Given the description of an element on the screen output the (x, y) to click on. 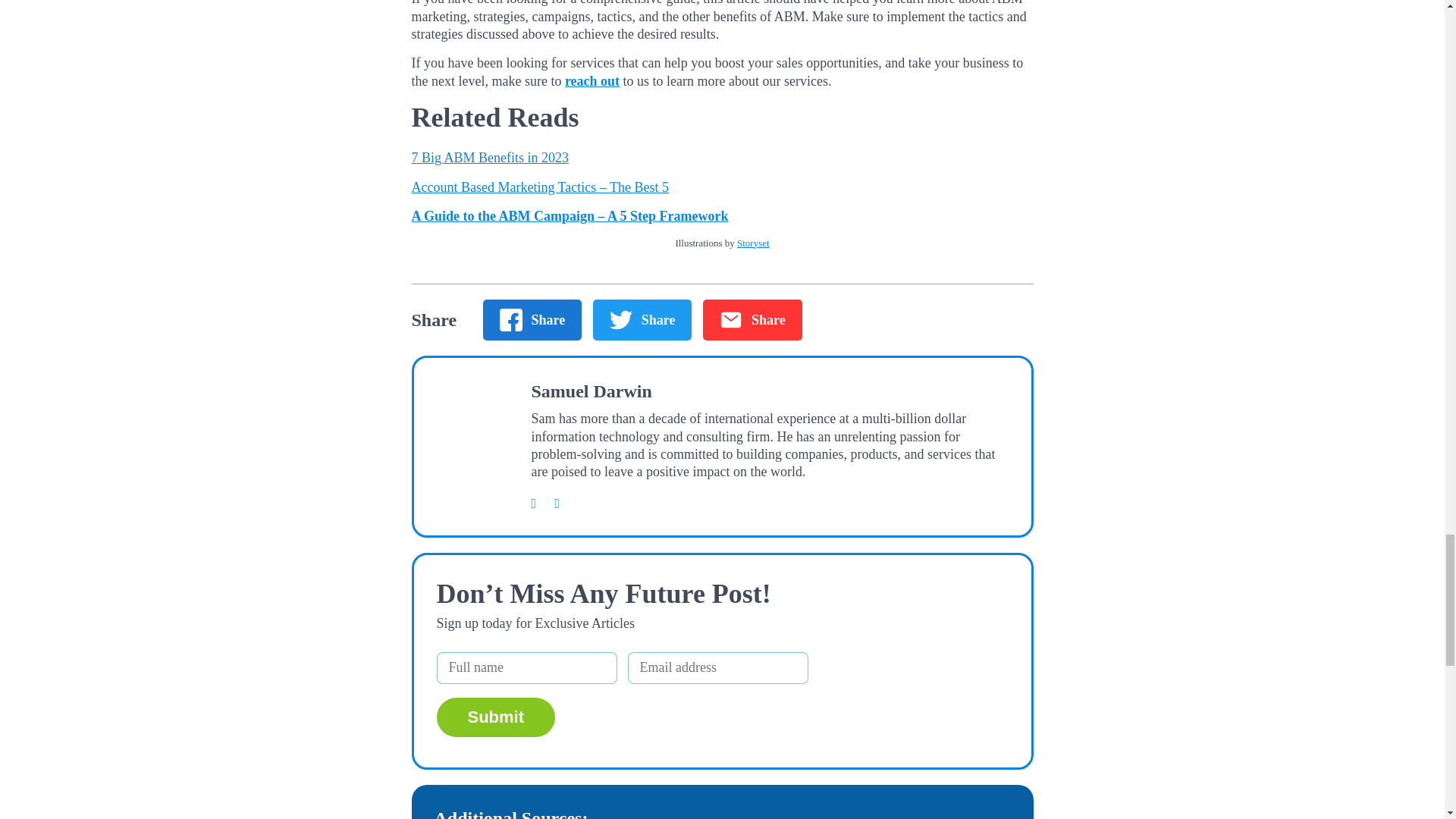
Submit (496, 717)
Share (752, 319)
reach out (592, 80)
Storyset (753, 242)
Submit (496, 717)
7 Big ABM Benefits in 2023 (489, 157)
Share (532, 319)
Share (642, 319)
